Given the description of an element on the screen output the (x, y) to click on. 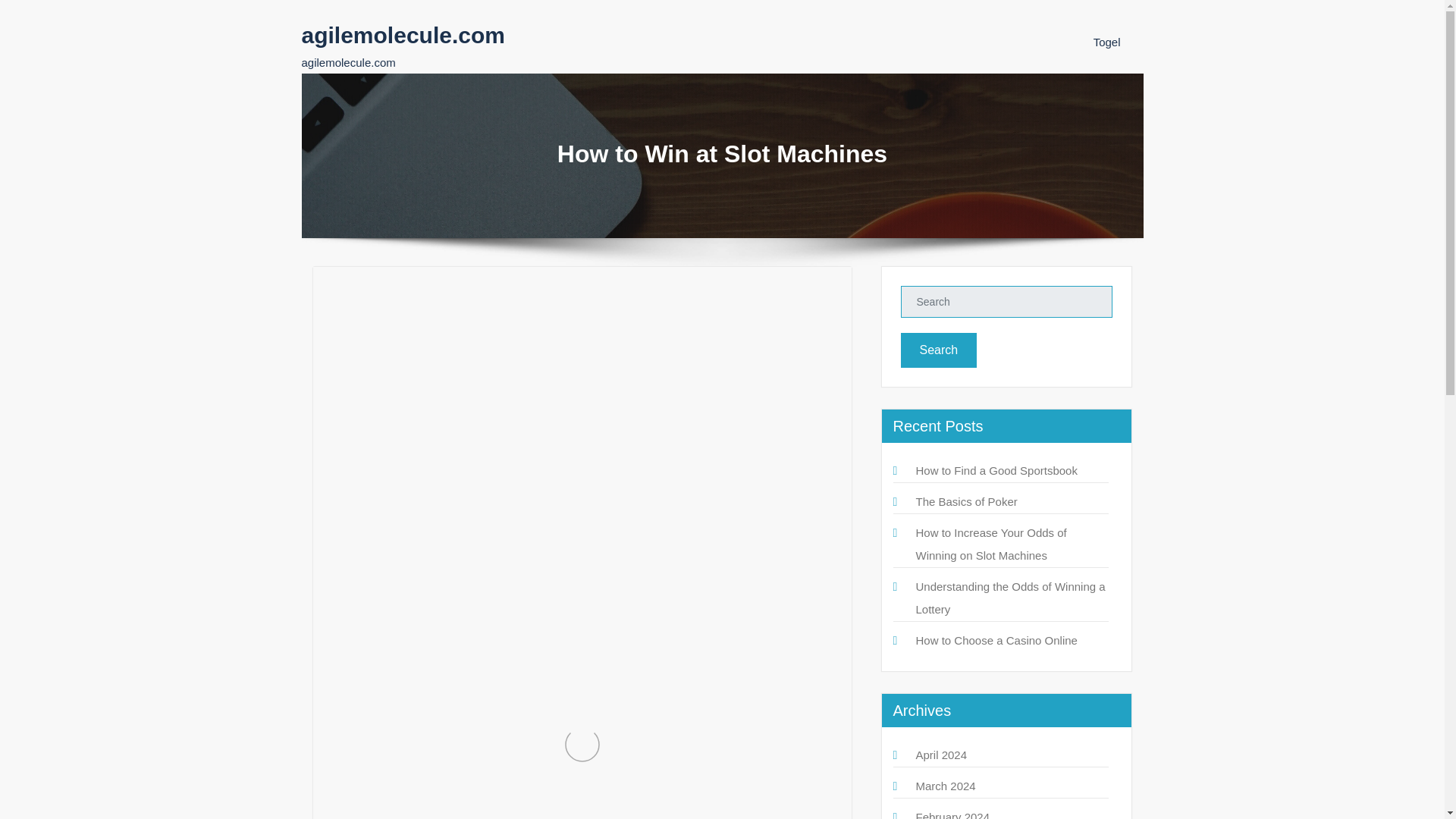
February 2024 (952, 814)
agilemolecule.com (403, 34)
The Basics of Poker (966, 501)
Understanding the Odds of Winning a Lottery (1010, 597)
April 2024 (941, 754)
Search (938, 349)
How to Choose a Casino Online (996, 640)
March 2024 (945, 785)
How to Find a Good Sportsbook (996, 470)
How to Increase Your Odds of Winning on Slot Machines (991, 543)
